Given the description of an element on the screen output the (x, y) to click on. 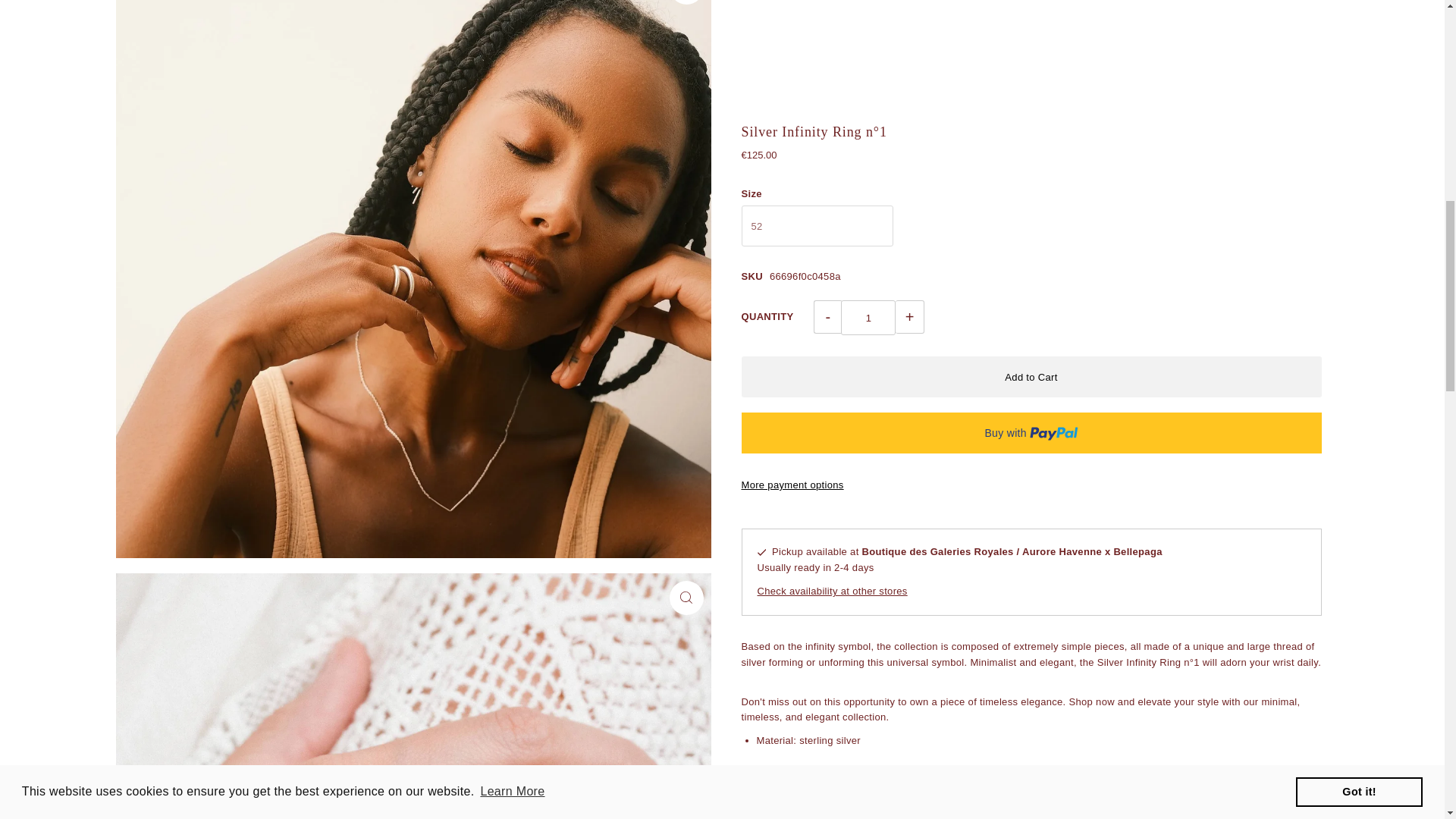
Click to zoom (685, 2)
Click to zoom (685, 597)
